Given the description of an element on the screen output the (x, y) to click on. 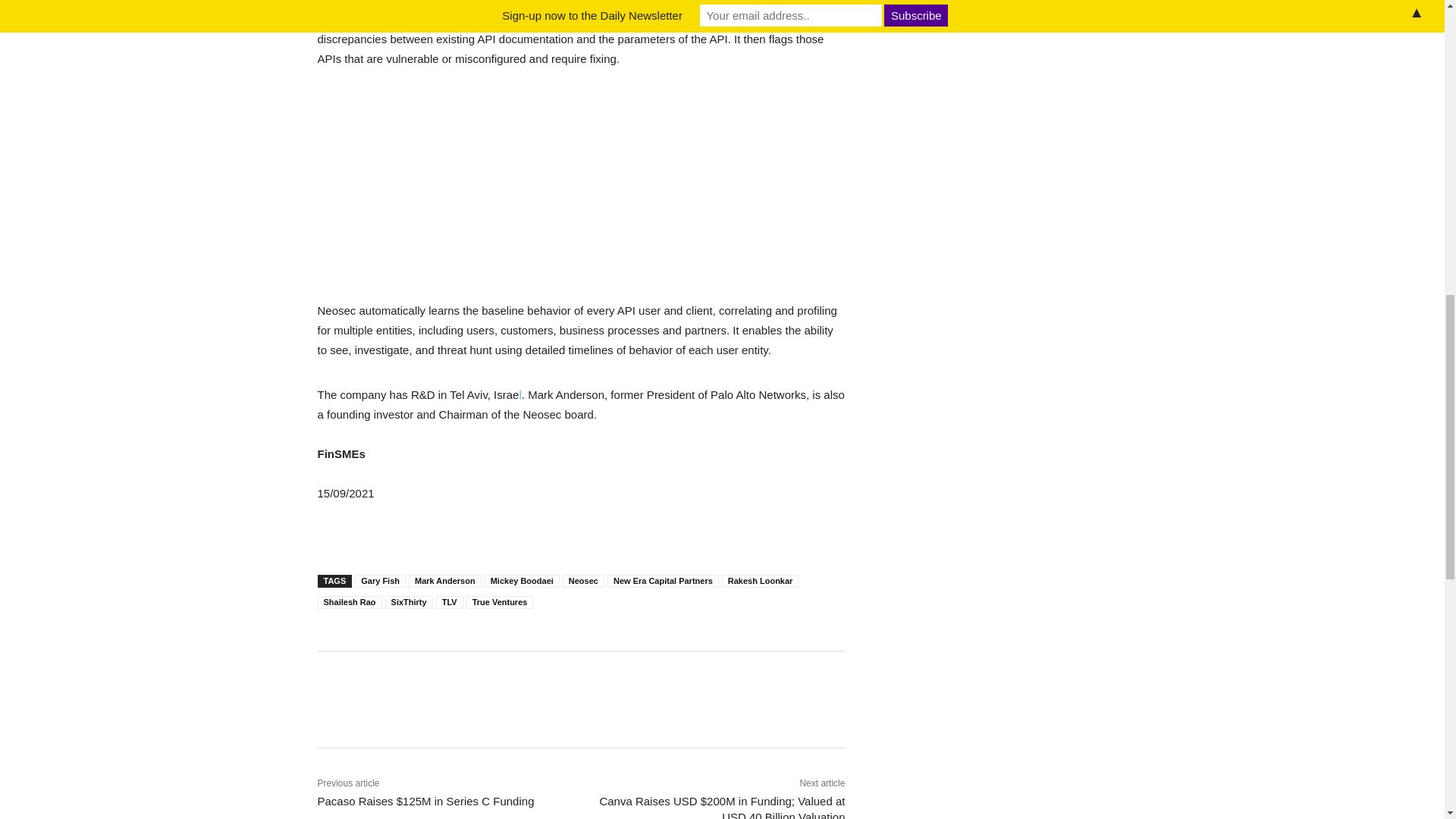
Rakesh Loonkar (760, 581)
Advertisement (580, 194)
Mark Anderson (445, 581)
New Era Capital Partners (663, 581)
Neosec (583, 581)
Mickey Boodaei (521, 581)
Gary Fish (380, 581)
